Given the description of an element on the screen output the (x, y) to click on. 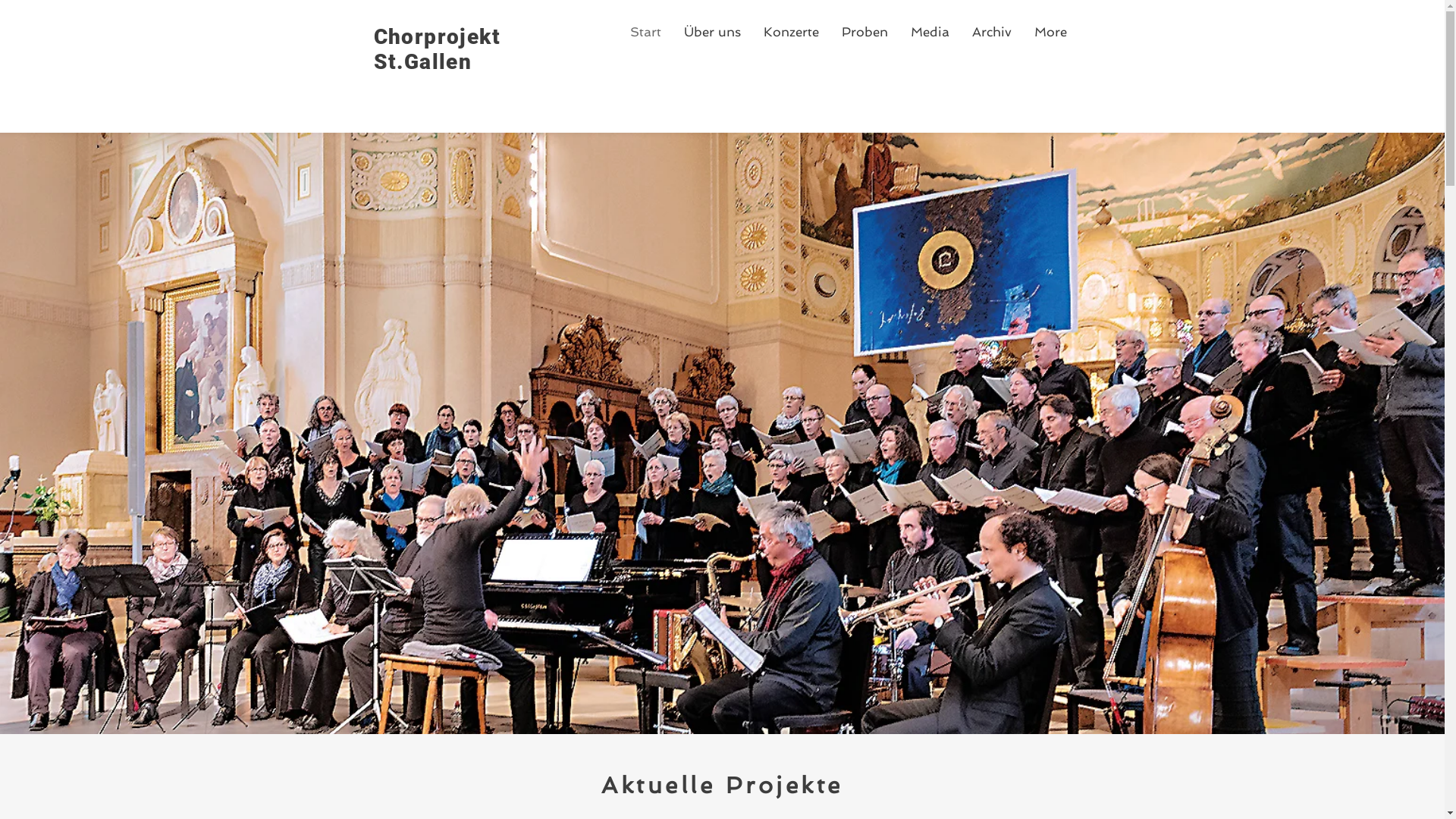
Proben Element type: text (863, 31)
Start Element type: text (645, 31)
Konzerte Element type: text (791, 31)
St.Gallen Element type: text (422, 61)
Chorprojekt Element type: text (436, 36)
Archiv Element type: text (991, 31)
Media Element type: text (929, 31)
